Given the description of an element on the screen output the (x, y) to click on. 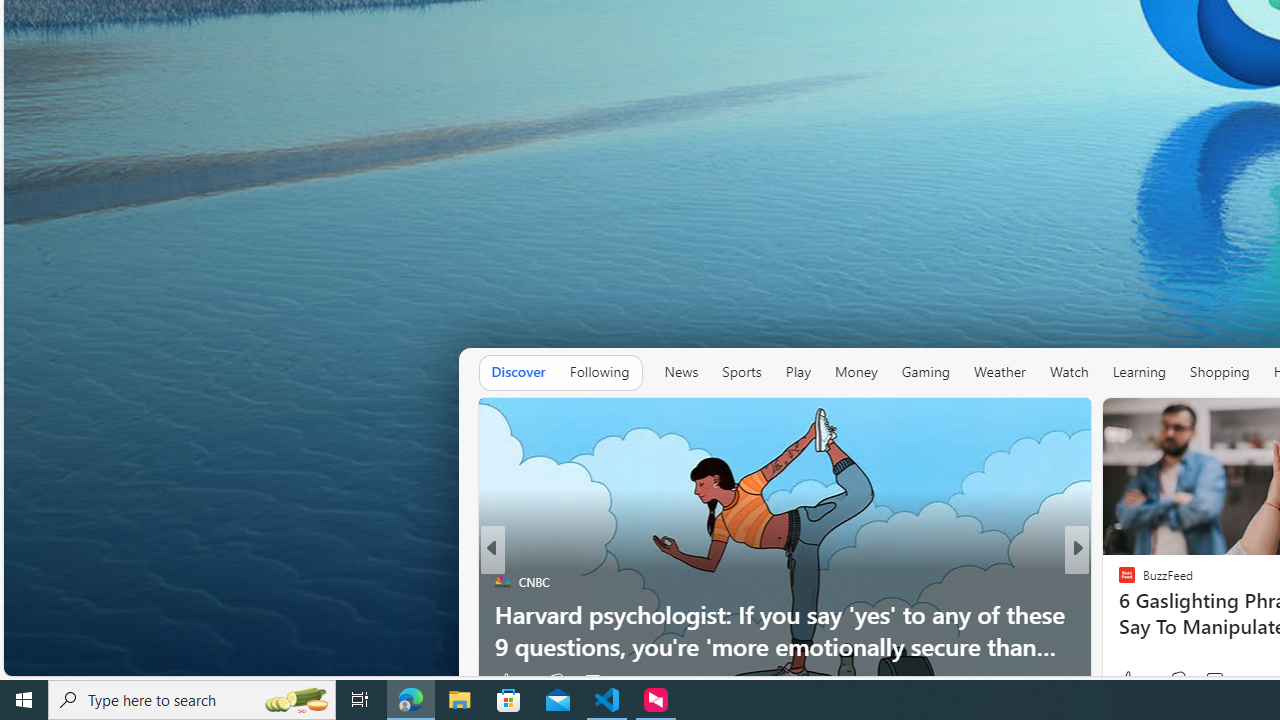
View comments 66 Comment (1209, 681)
View comments 2 Comment (1215, 681)
42 Like (1128, 681)
Weather (999, 371)
Dislike (1177, 680)
Shopping (1219, 372)
Gaming (925, 372)
USA TODAY (1117, 581)
View comments 274 Comment (1208, 681)
View comments 786 Comment (604, 681)
Vox.com (1117, 581)
View comments 139 Comment (1214, 679)
BuzzFeed (1117, 581)
View comments 786 Comment (592, 681)
Play (798, 372)
